Given the description of an element on the screen output the (x, y) to click on. 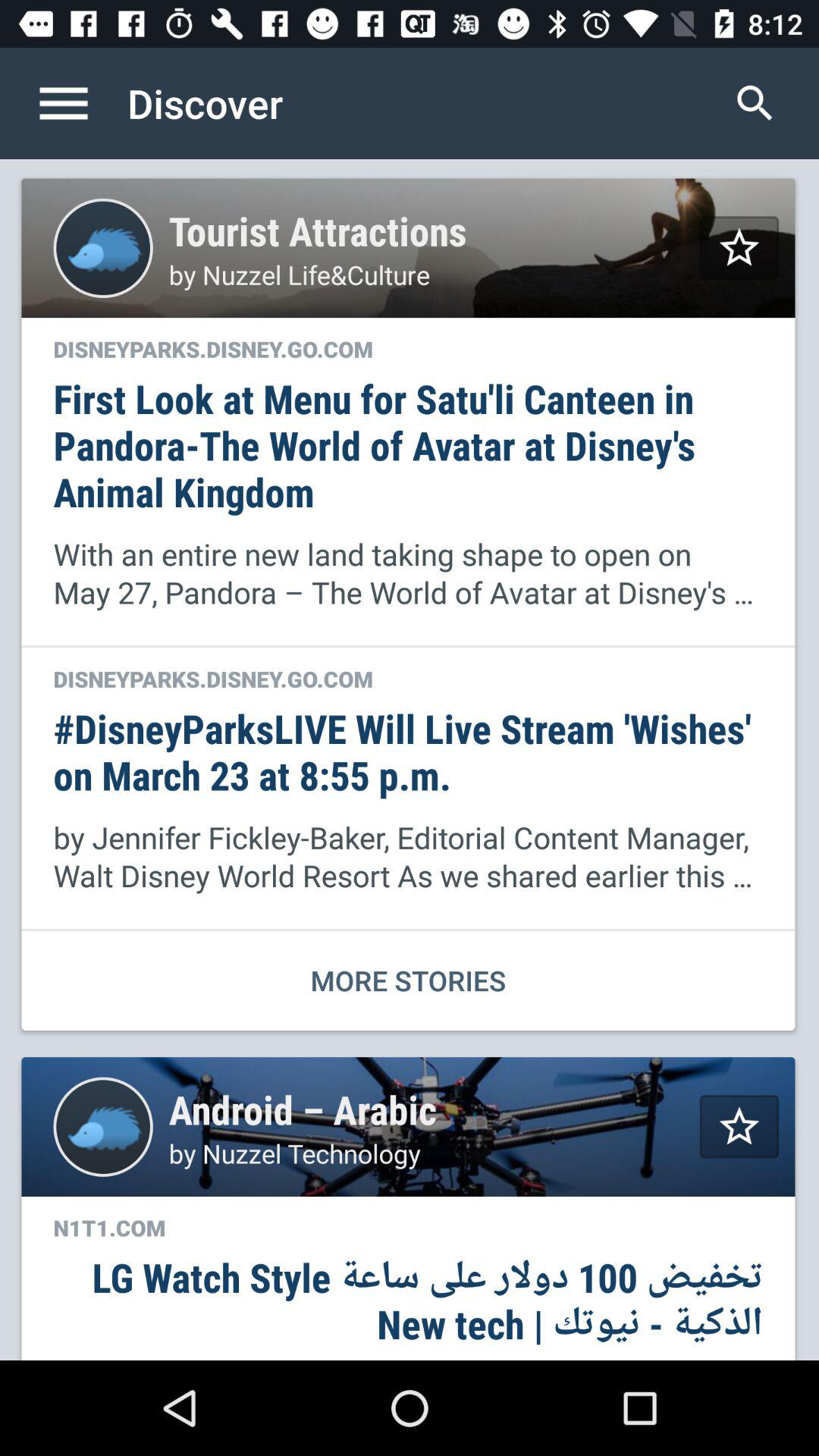
favorite topic (739, 247)
